Given the description of an element on the screen output the (x, y) to click on. 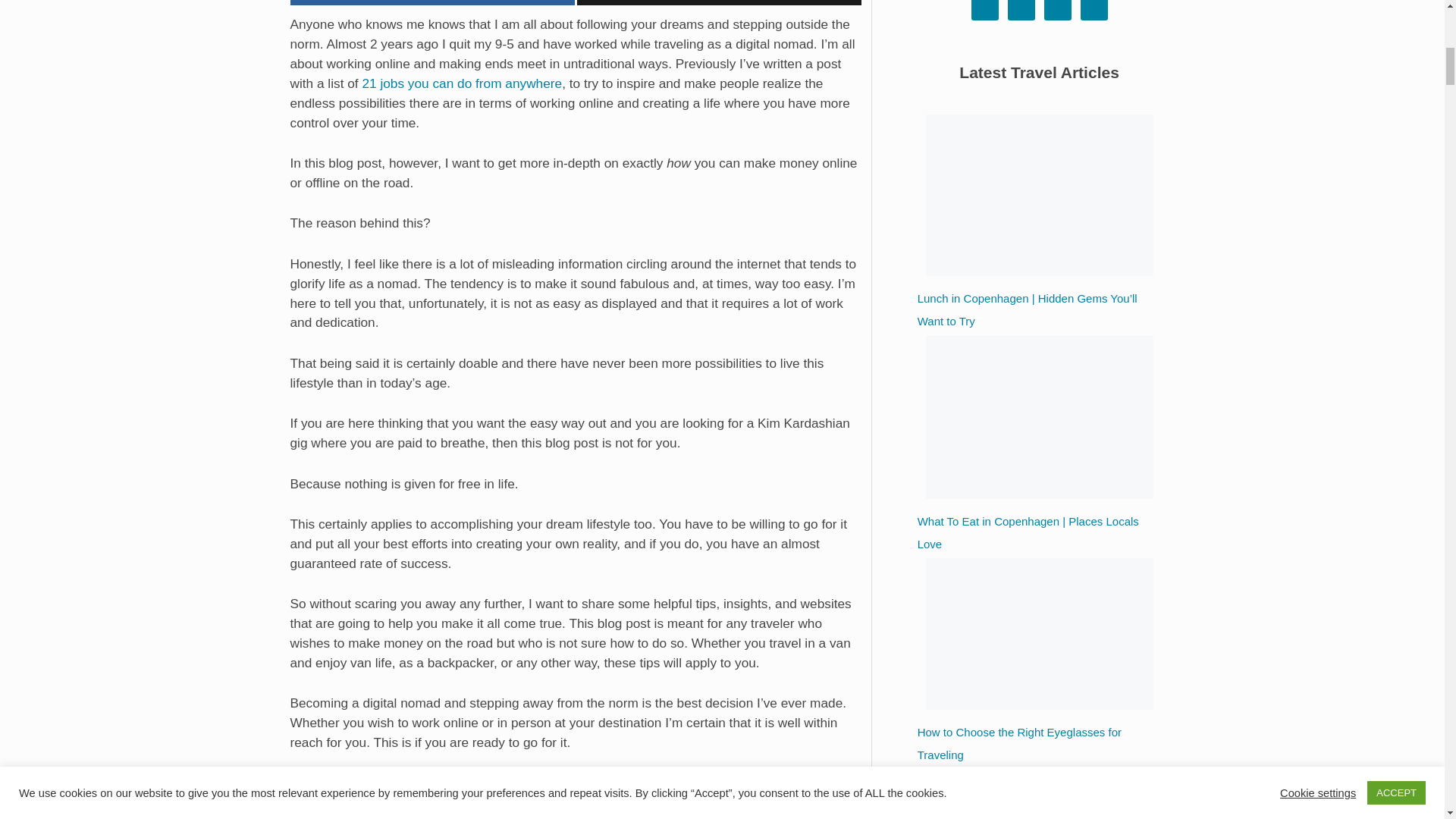
Tweet (718, 2)
Share (431, 2)
21 jobs you can do from anywhere (461, 83)
